Given the description of an element on the screen output the (x, y) to click on. 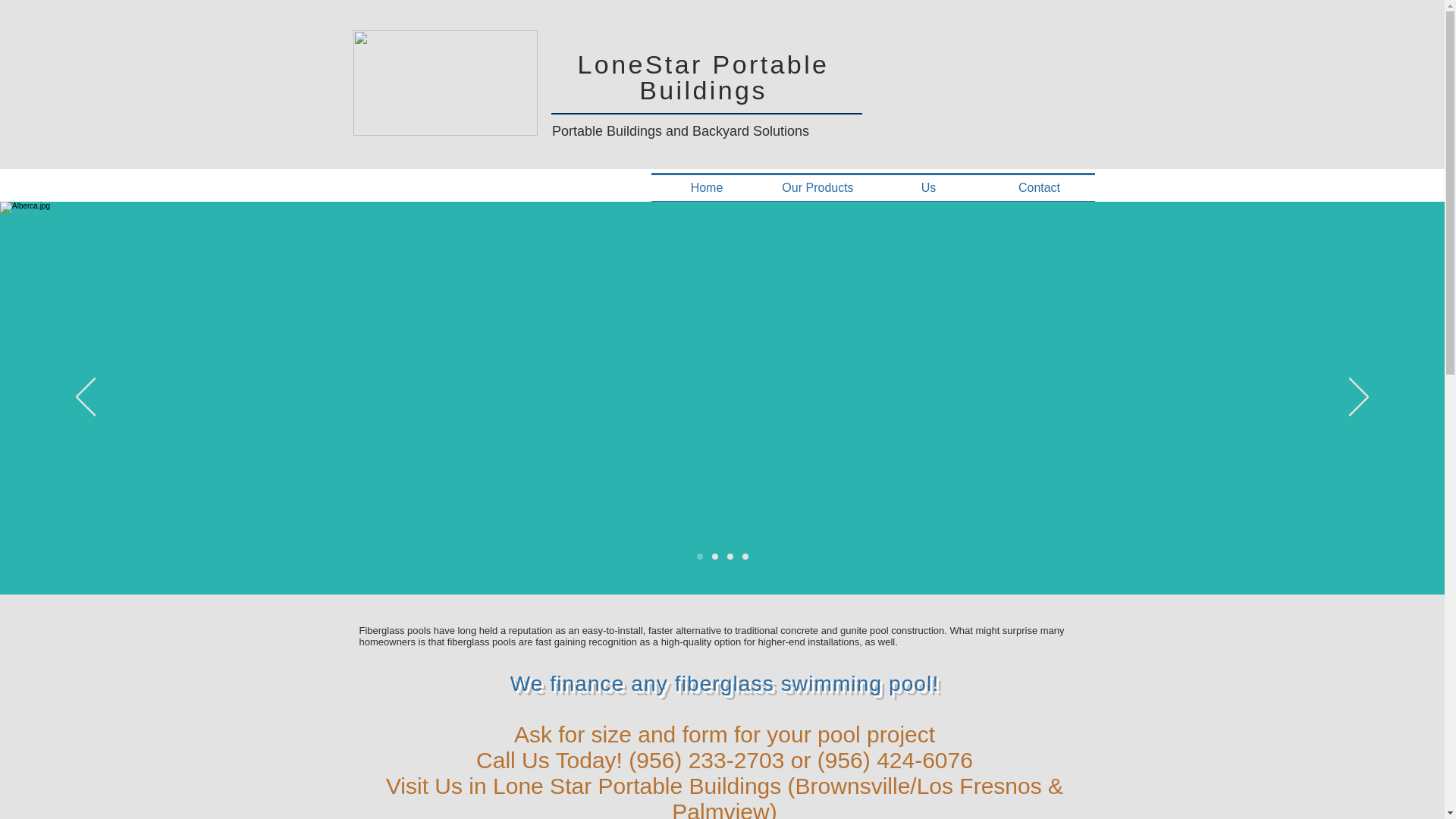
Our Products (817, 187)
Home (705, 187)
LoneStar Portable Buildings (703, 76)
lone star.jpg (445, 82)
Contact (1039, 187)
Us (928, 187)
